Given the description of an element on the screen output the (x, y) to click on. 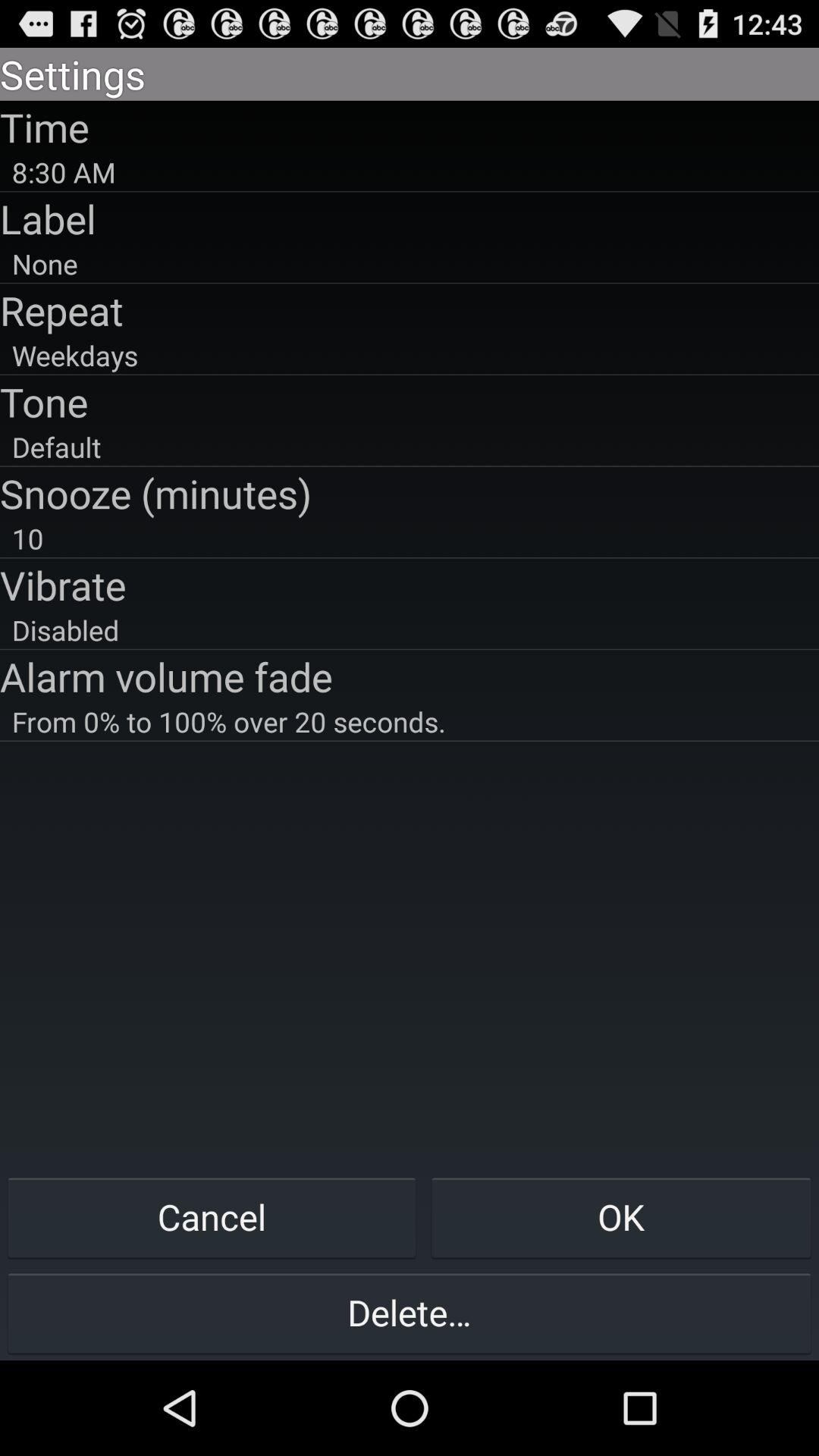
swipe until the repeat icon (409, 309)
